Given the description of an element on the screen output the (x, y) to click on. 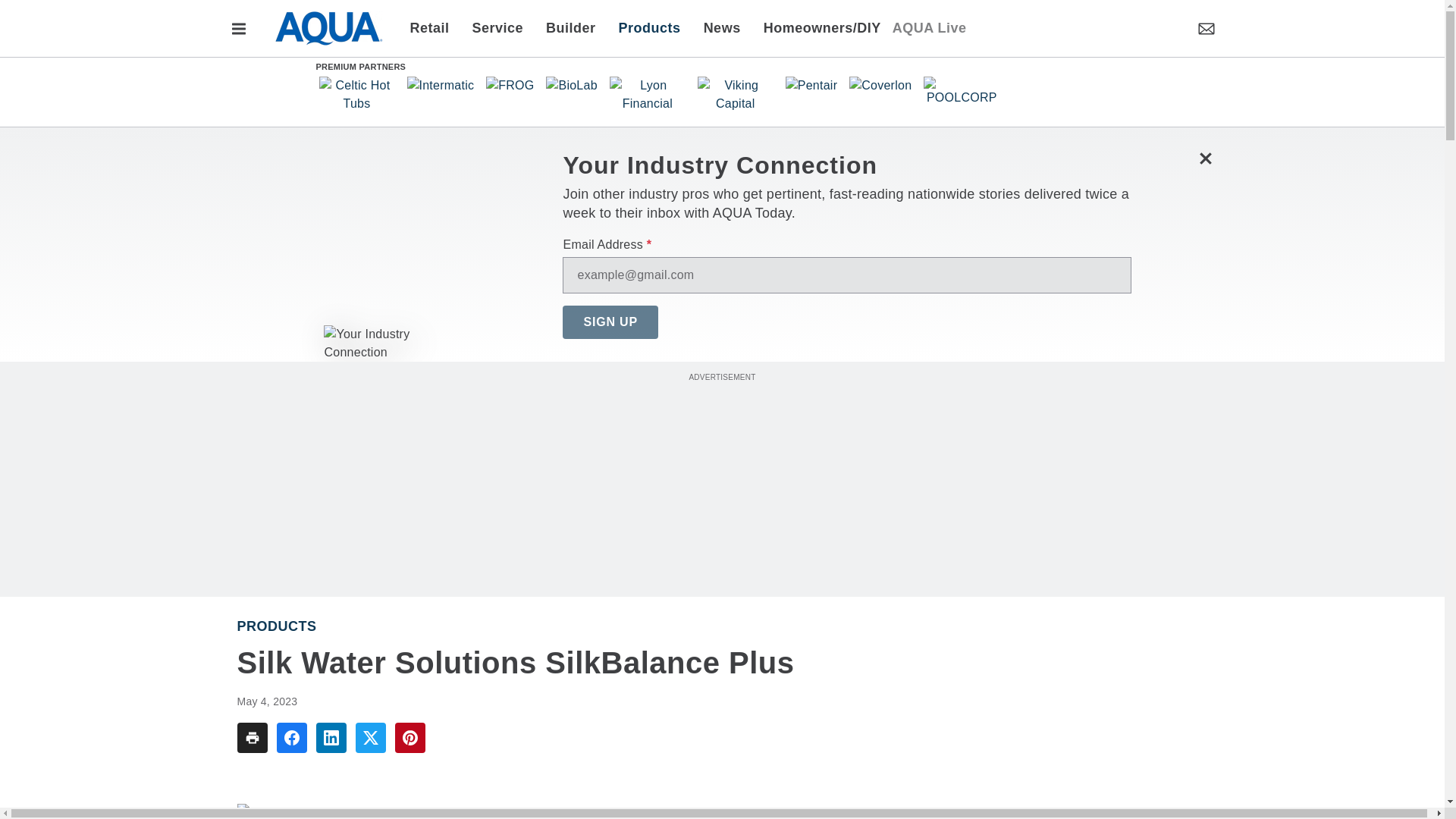
FROG (510, 85)
Retail (434, 27)
Intermatic (440, 85)
News (722, 27)
Celtic Hot Tubs (356, 94)
Products (650, 27)
Service (498, 27)
AQUA Live (929, 27)
Builder (570, 27)
